Given the description of an element on the screen output the (x, y) to click on. 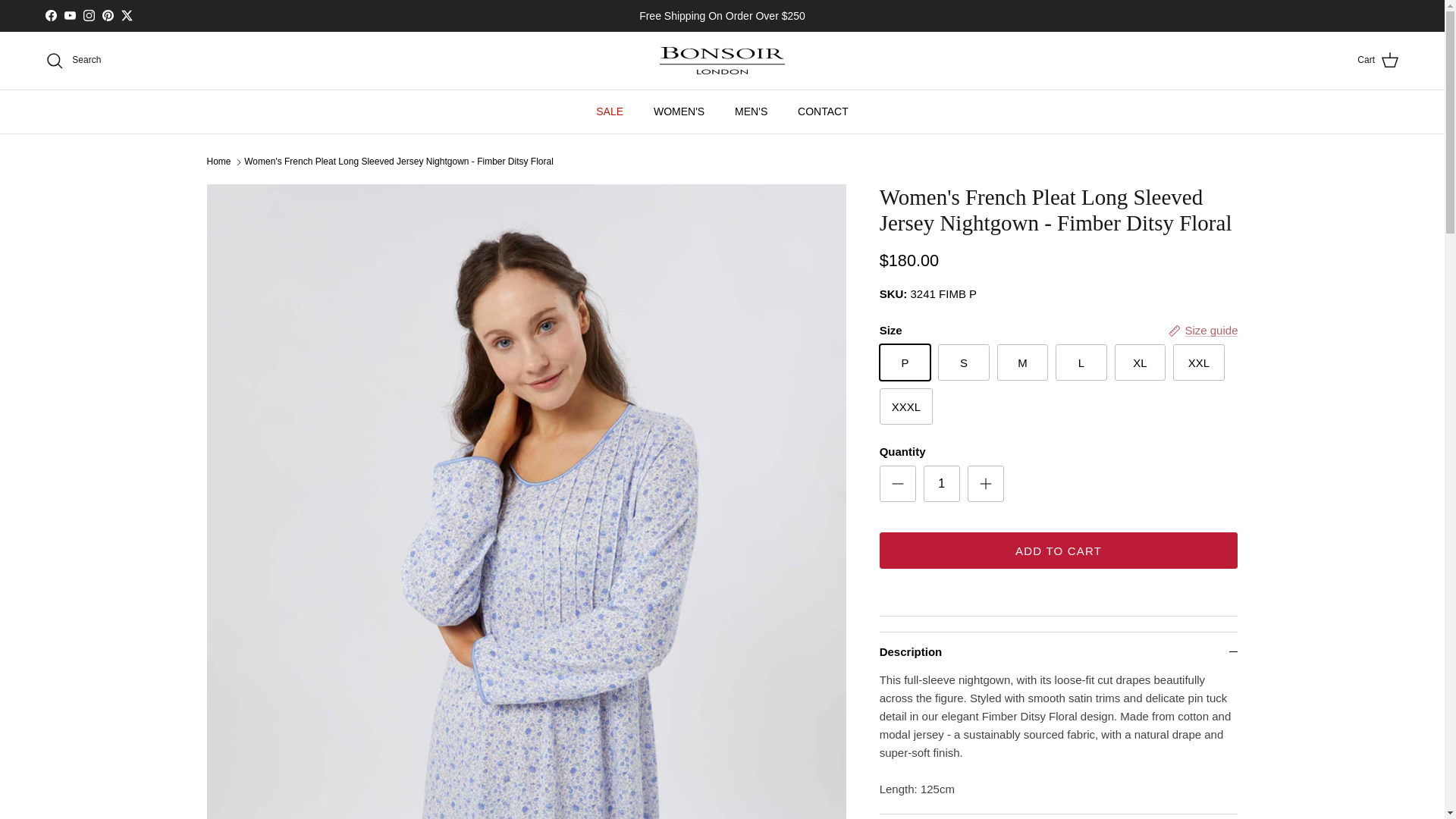
US Bonsoir of London  on Facebook (50, 15)
Instagram (88, 15)
WOMEN'S (678, 111)
Cart (1377, 60)
Twitter (126, 15)
US Bonsoir of London  on Pinterest (107, 15)
YouTube (69, 15)
SALE (609, 111)
1 (941, 484)
US Bonsoir of London  (721, 60)
Pinterest (107, 15)
US Bonsoir of London  on Twitter (126, 15)
US Bonsoir of London  on Instagram (88, 15)
US Bonsoir of London  on YouTube (69, 15)
Facebook (50, 15)
